Given the description of an element on the screen output the (x, y) to click on. 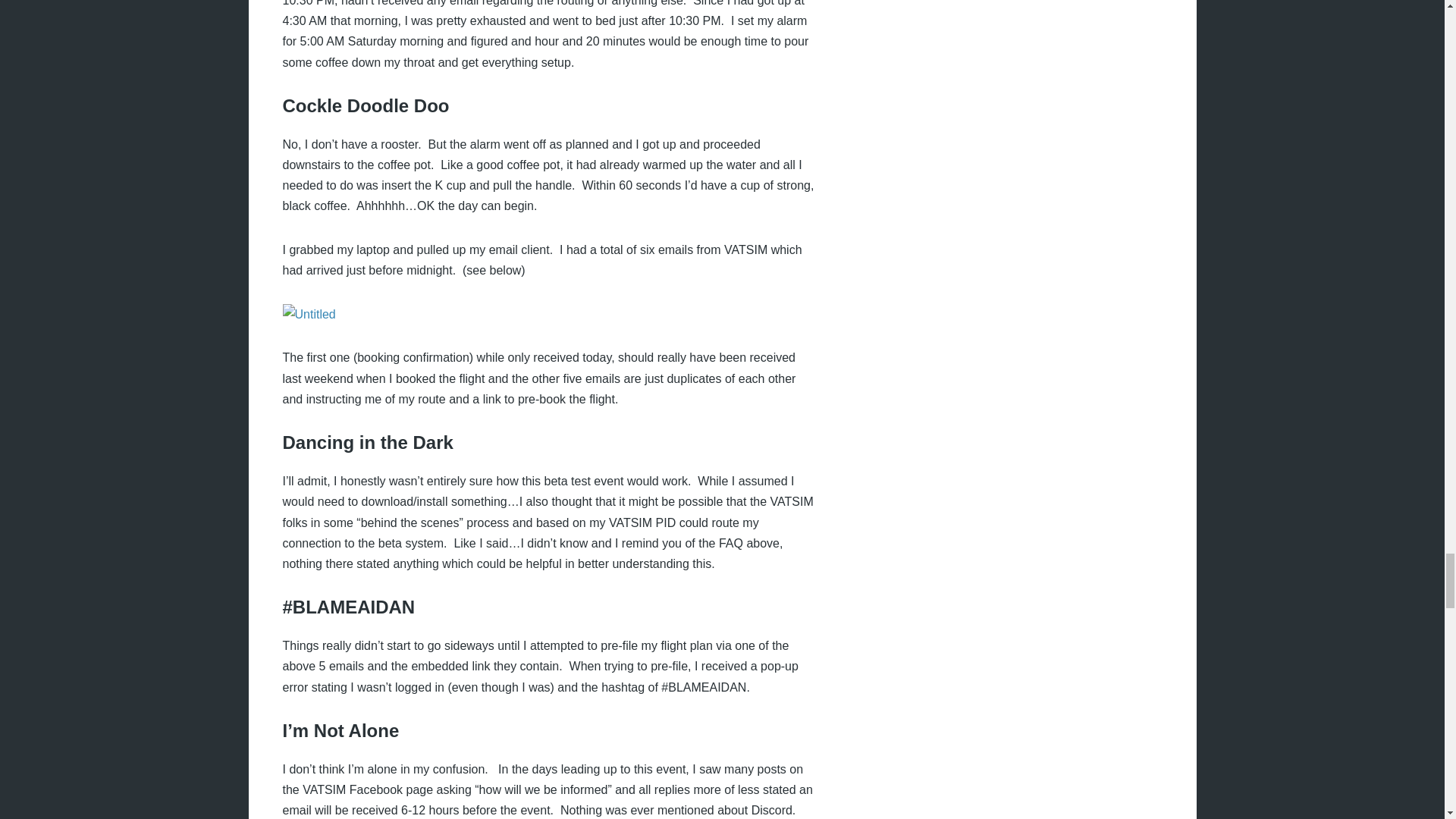
Untitled (308, 313)
